Given the description of an element on the screen output the (x, y) to click on. 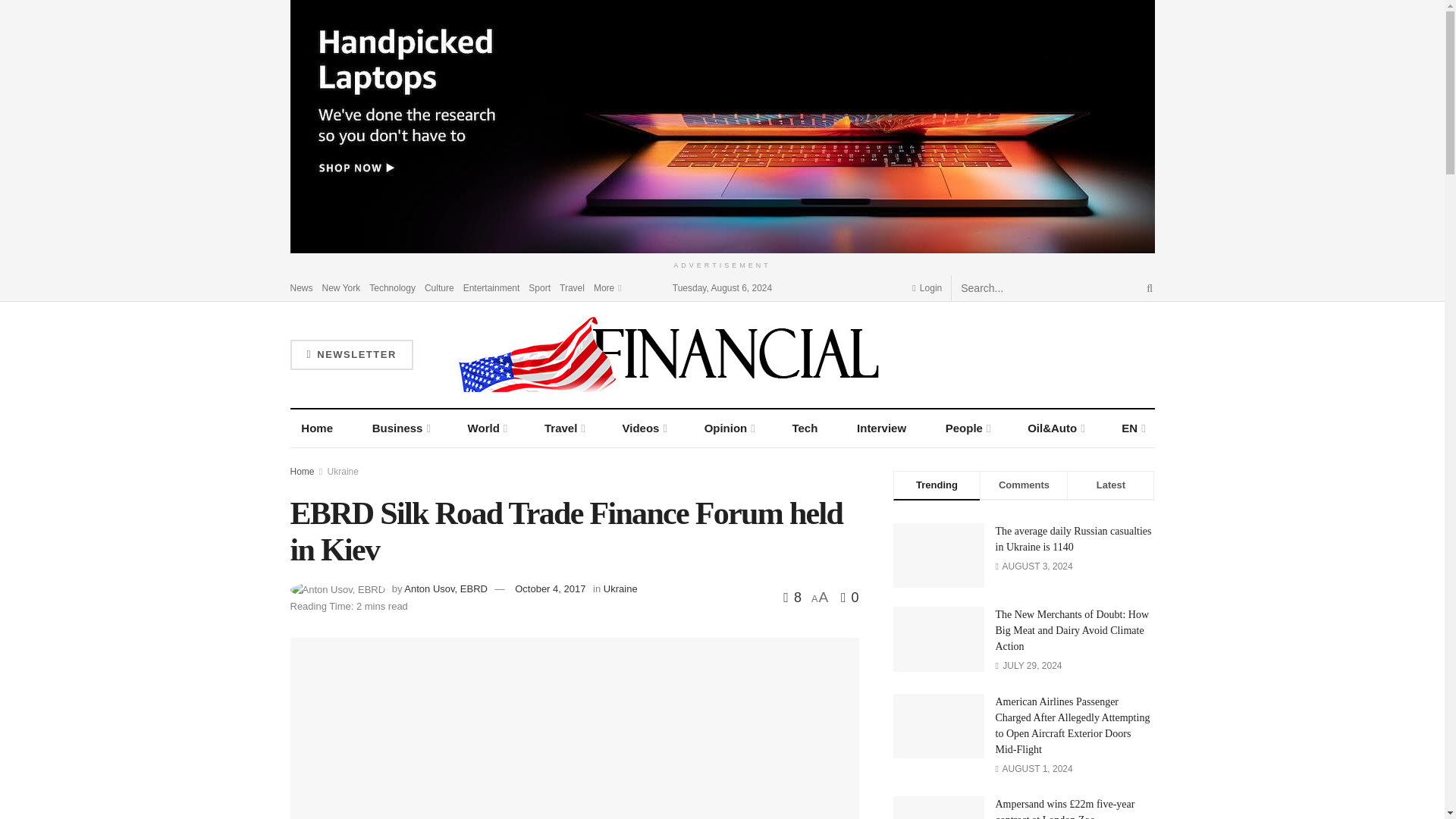
Home (316, 428)
World (486, 428)
Technology (391, 287)
Culture (439, 287)
More (607, 287)
NEWSLETTER (350, 354)
Login (927, 287)
Travel (572, 287)
Business (400, 428)
New York (341, 287)
Entertainment (491, 287)
